Given the description of an element on the screen output the (x, y) to click on. 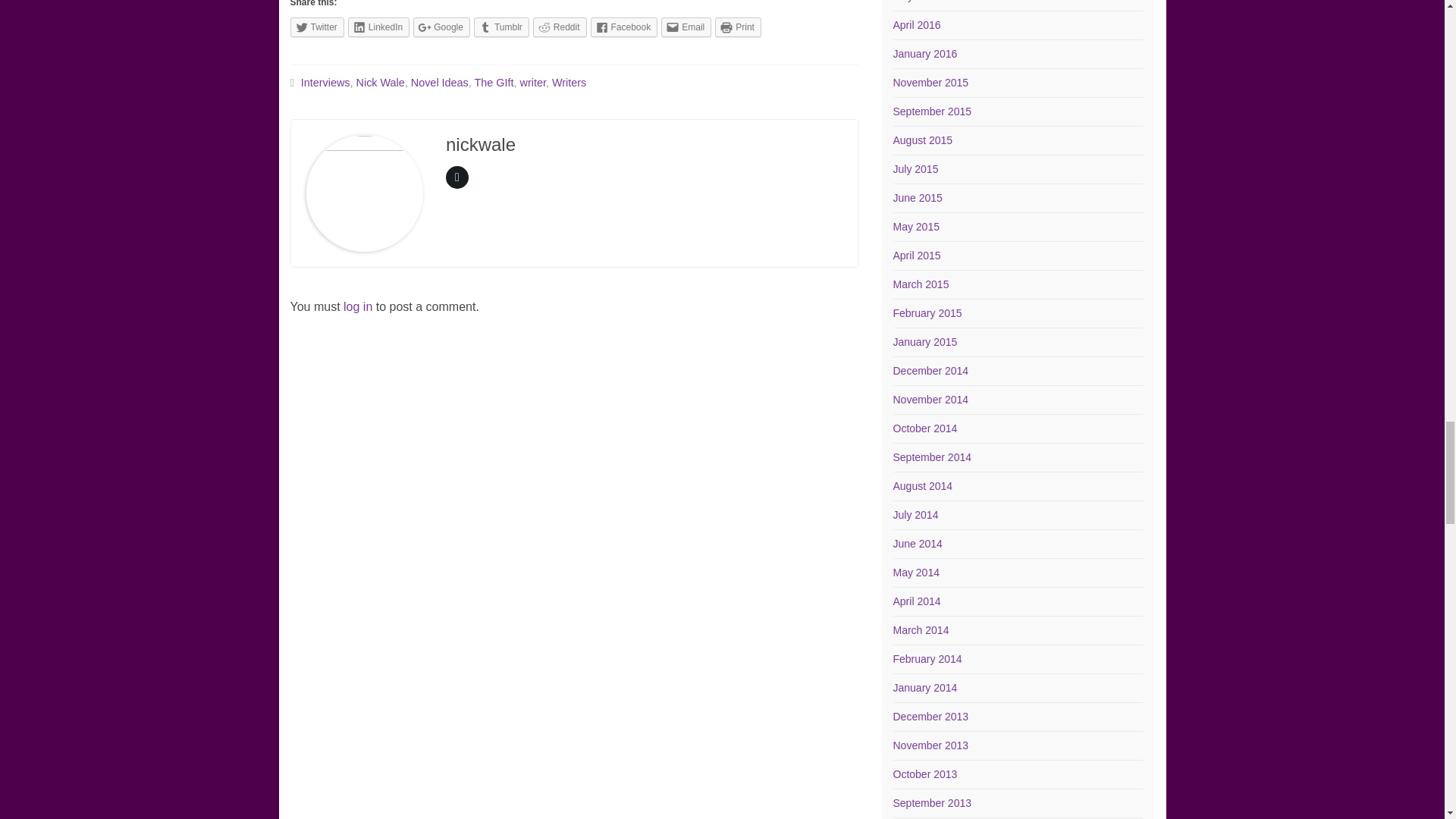
Click to share on LinkedIn (378, 26)
Google (441, 26)
Nick Wale (380, 82)
Writers (568, 82)
Click to email this to a friend (686, 26)
Tumblr (501, 26)
Interviews (325, 82)
Twitter (316, 26)
Click to share on Twitter (316, 26)
The GIft (493, 82)
